Given the description of an element on the screen output the (x, y) to click on. 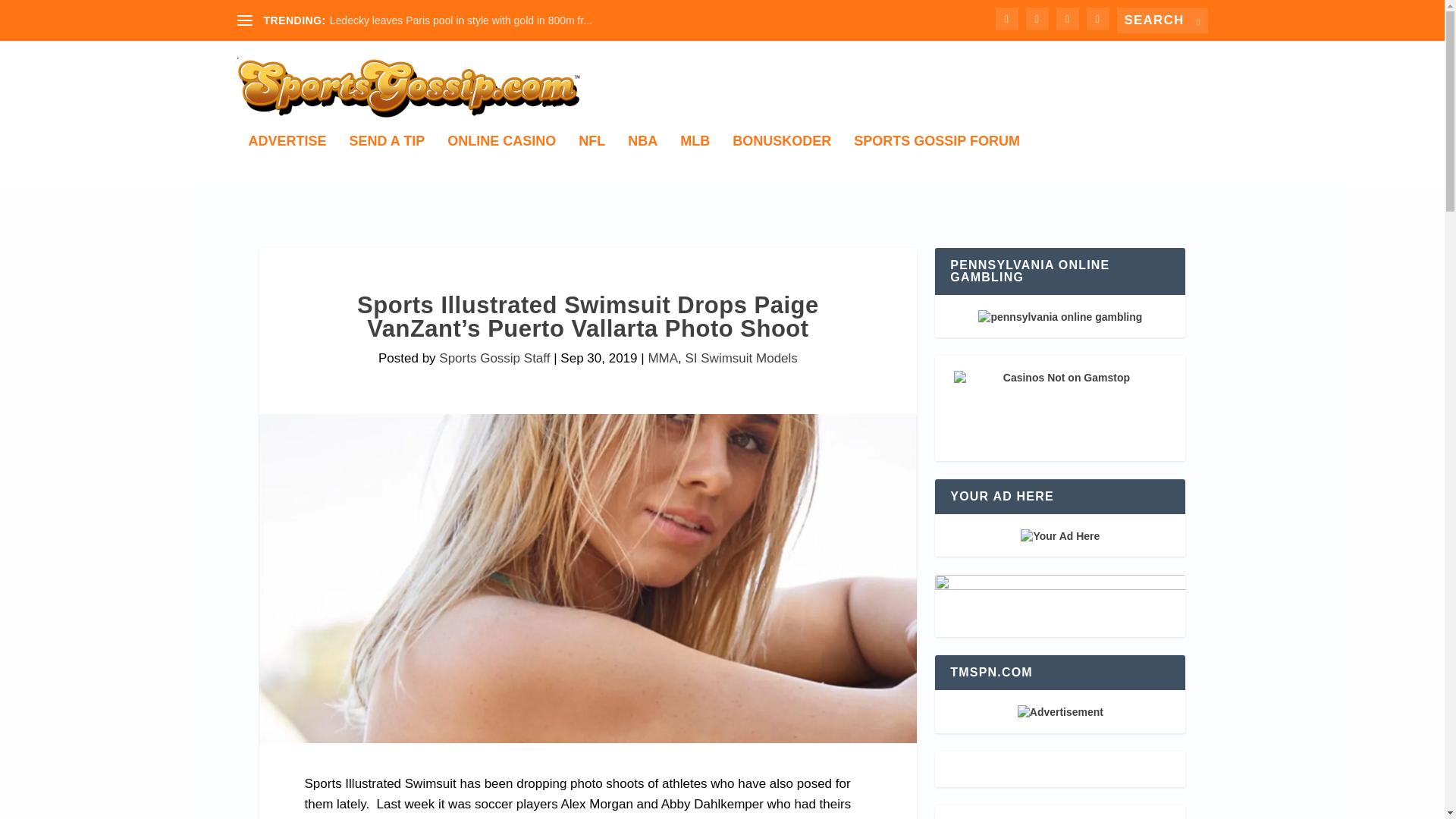
ONLINE CASINO (501, 161)
ADVERTISE (287, 161)
Posts by Sports Gossip Staff (494, 358)
NBA (642, 161)
SEND A TIP (387, 161)
NFL (591, 161)
BONUSKODER (781, 161)
MMA (662, 358)
SI Swimsuit Models (741, 358)
Search for: (1161, 20)
MLB (694, 161)
Ledecky leaves Paris pool in style with gold in 800m fr... (461, 20)
Sports Gossip Staff (494, 358)
SPORTS GOSSIP FORUM (936, 161)
